Given the description of an element on the screen output the (x, y) to click on. 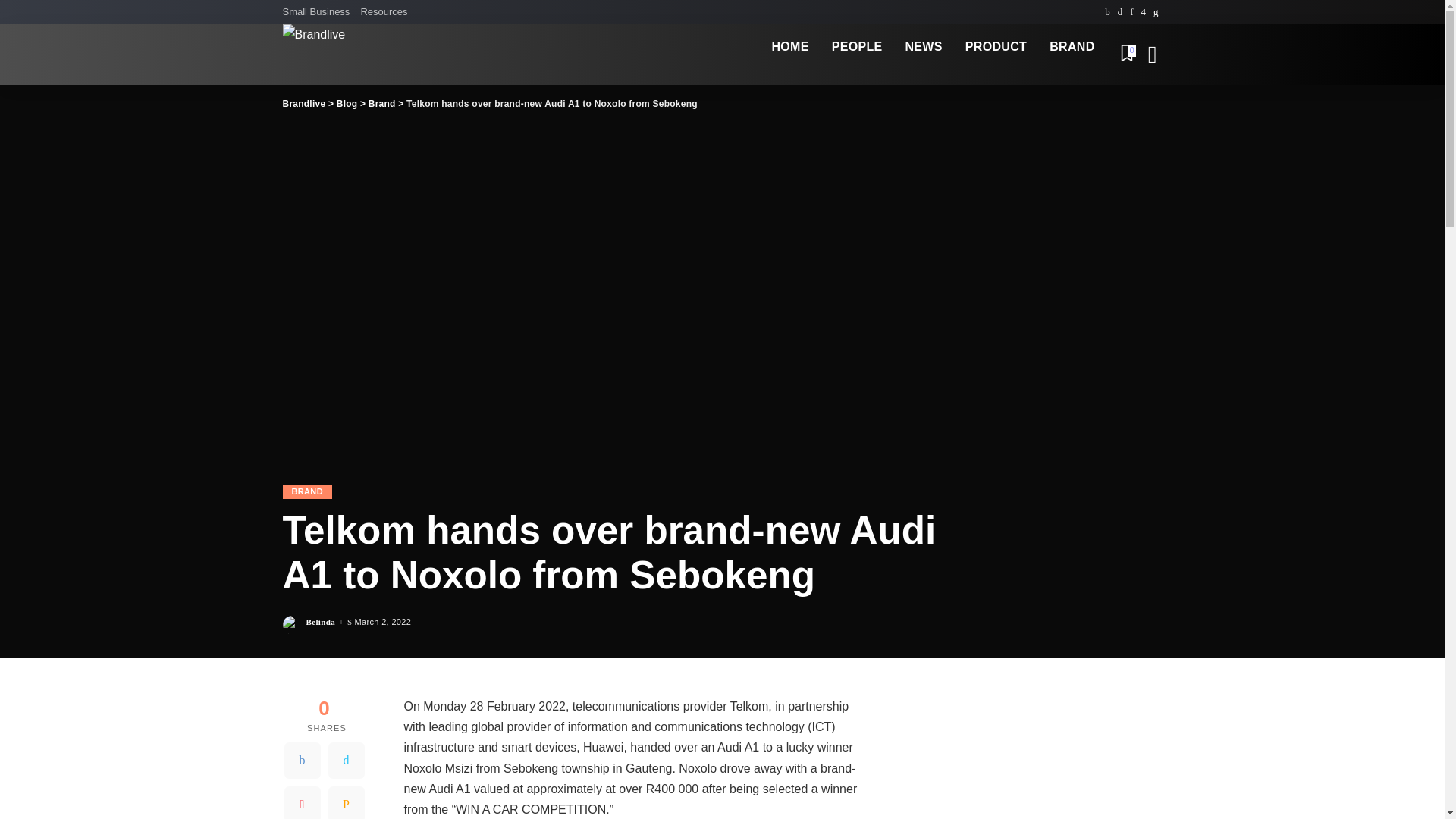
HOME (789, 46)
Small Business (318, 11)
Resources (383, 11)
PEOPLE (857, 46)
